Given the description of an element on the screen output the (x, y) to click on. 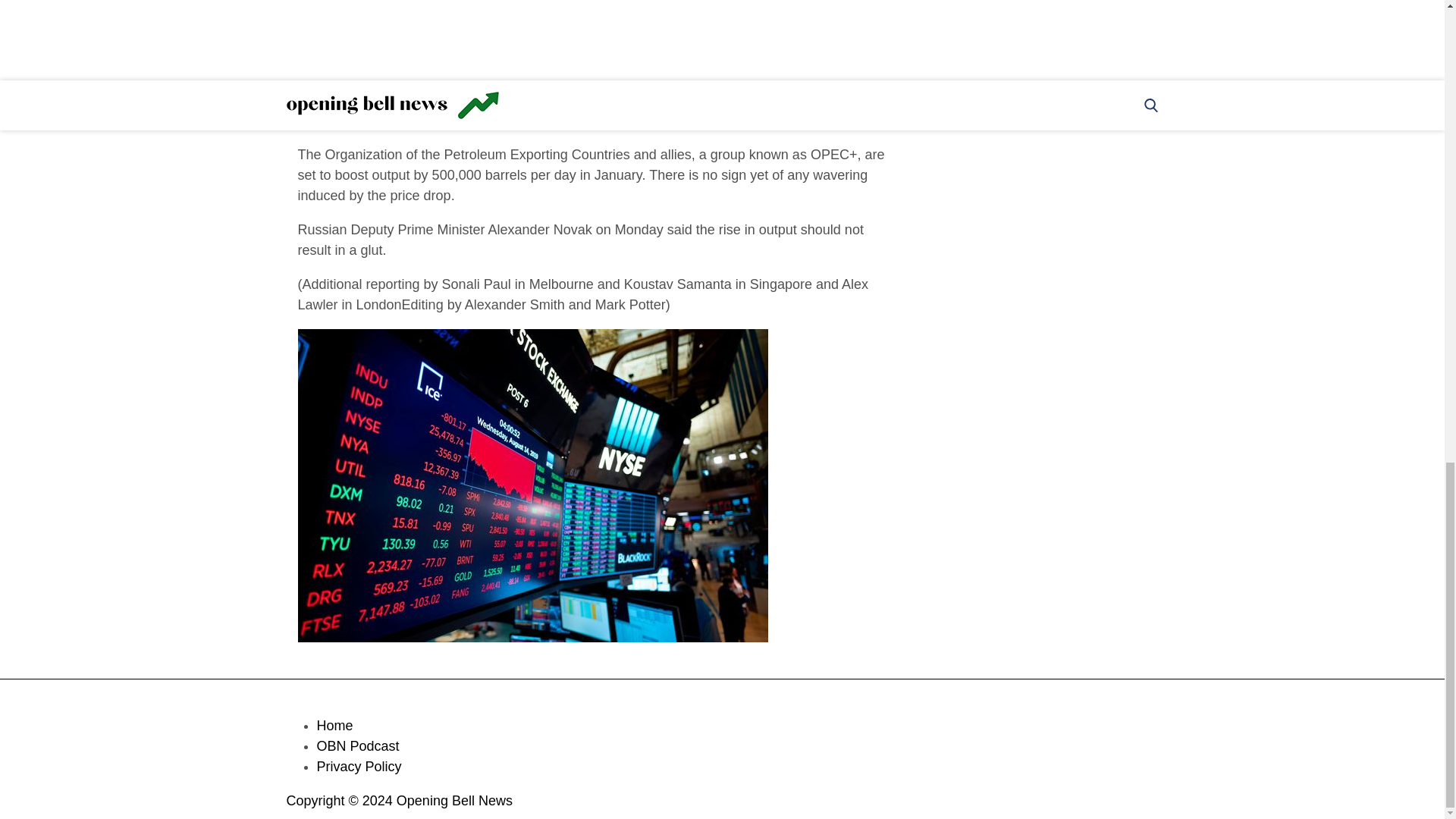
Privacy Policy (359, 766)
Home (335, 725)
OBN Podcast (357, 745)
